Given the description of an element on the screen output the (x, y) to click on. 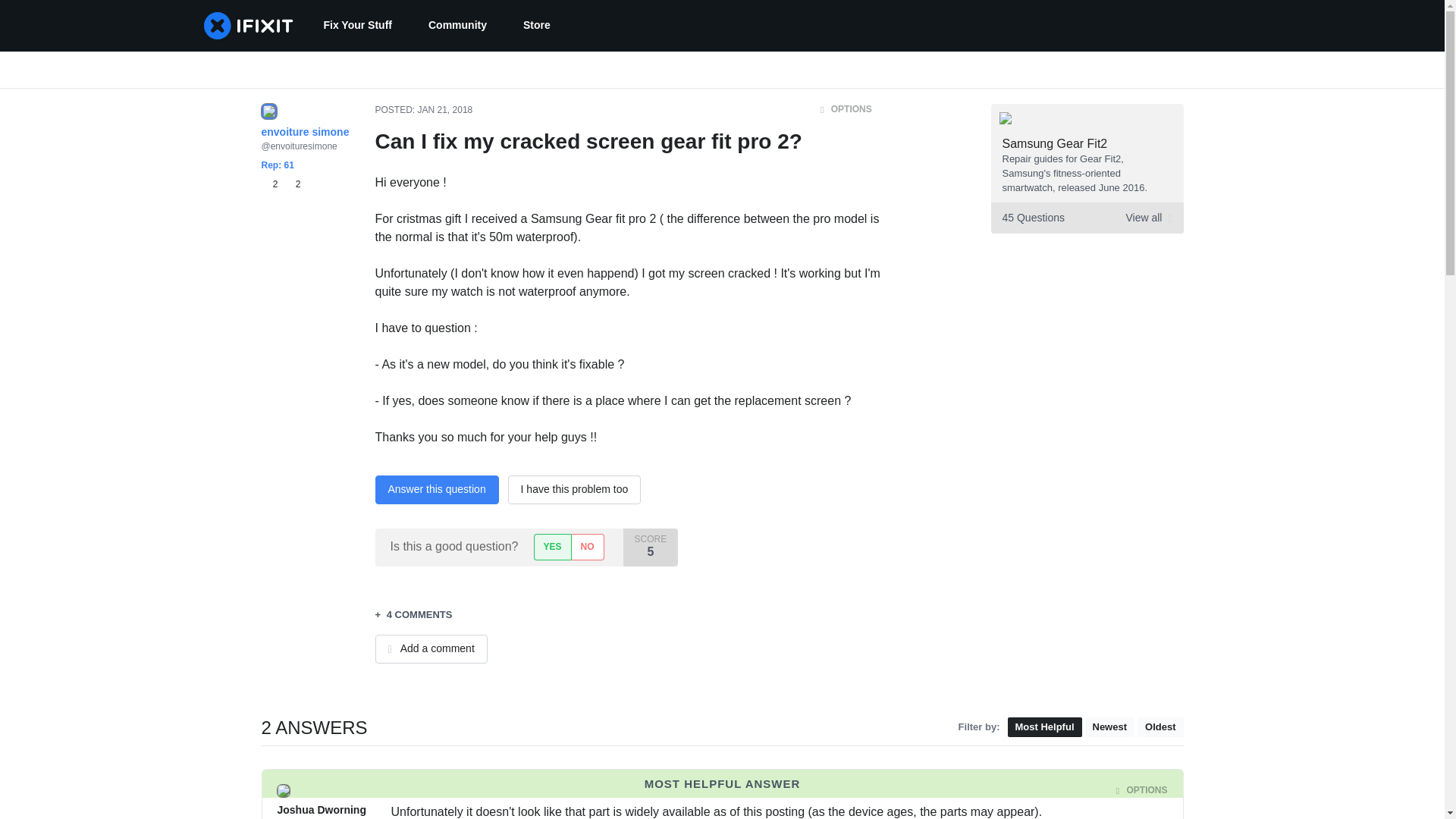
2 Silver badges (292, 184)
Fix Your Stuff (356, 25)
YES (552, 546)
Samsung Gear Fit2 (1055, 143)
Sun, 21 Jan 2018 00:46:30 -0700 (445, 109)
Most Helpful (1044, 727)
Sun, 21 Jan 2018 00:57:22 -0700 (461, 790)
POSTED: JAN 21, 2018 (422, 109)
Community (457, 25)
Store (537, 25)
